Given the description of an element on the screen output the (x, y) to click on. 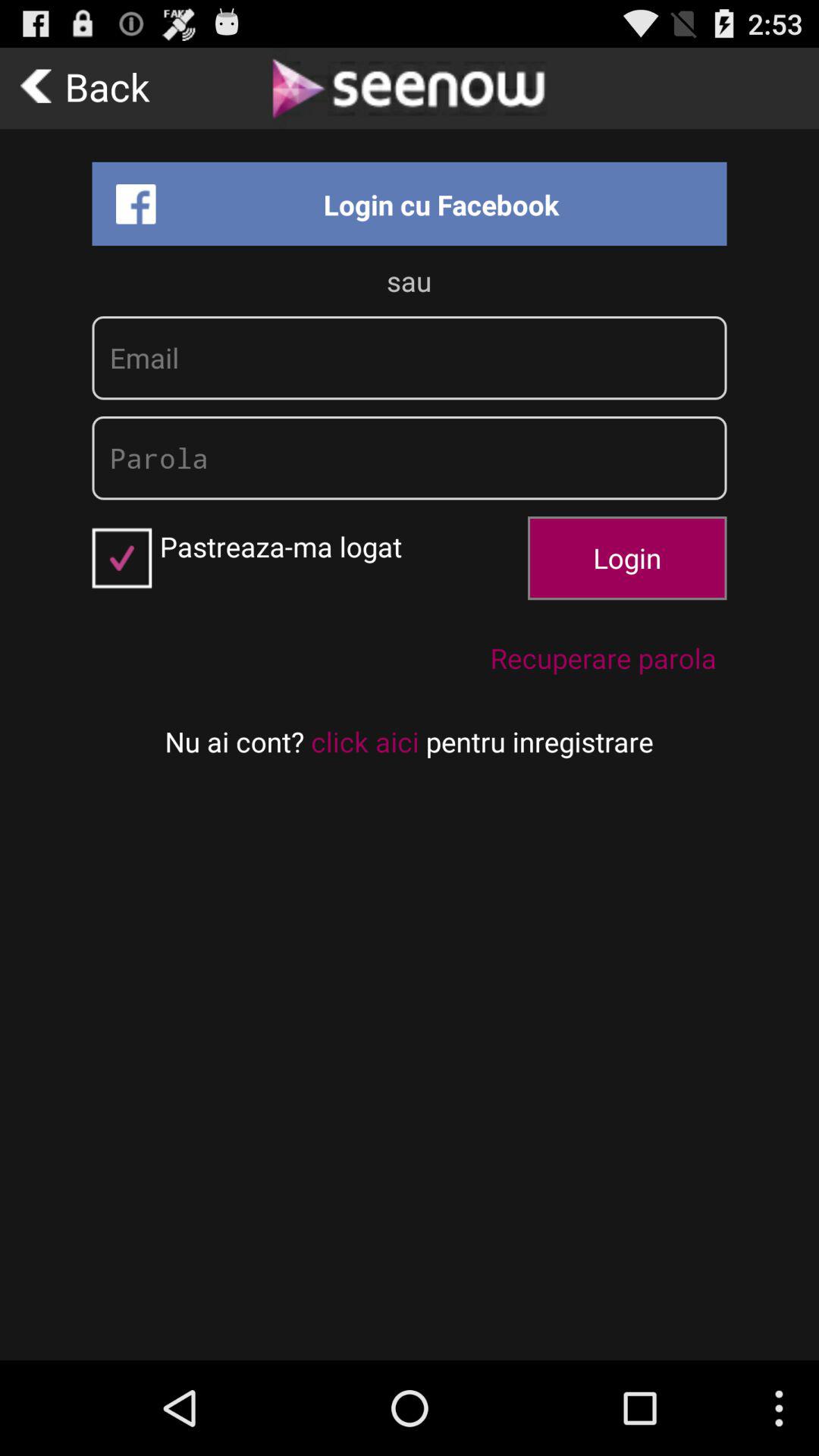
enter password (409, 457)
